Given the description of an element on the screen output the (x, y) to click on. 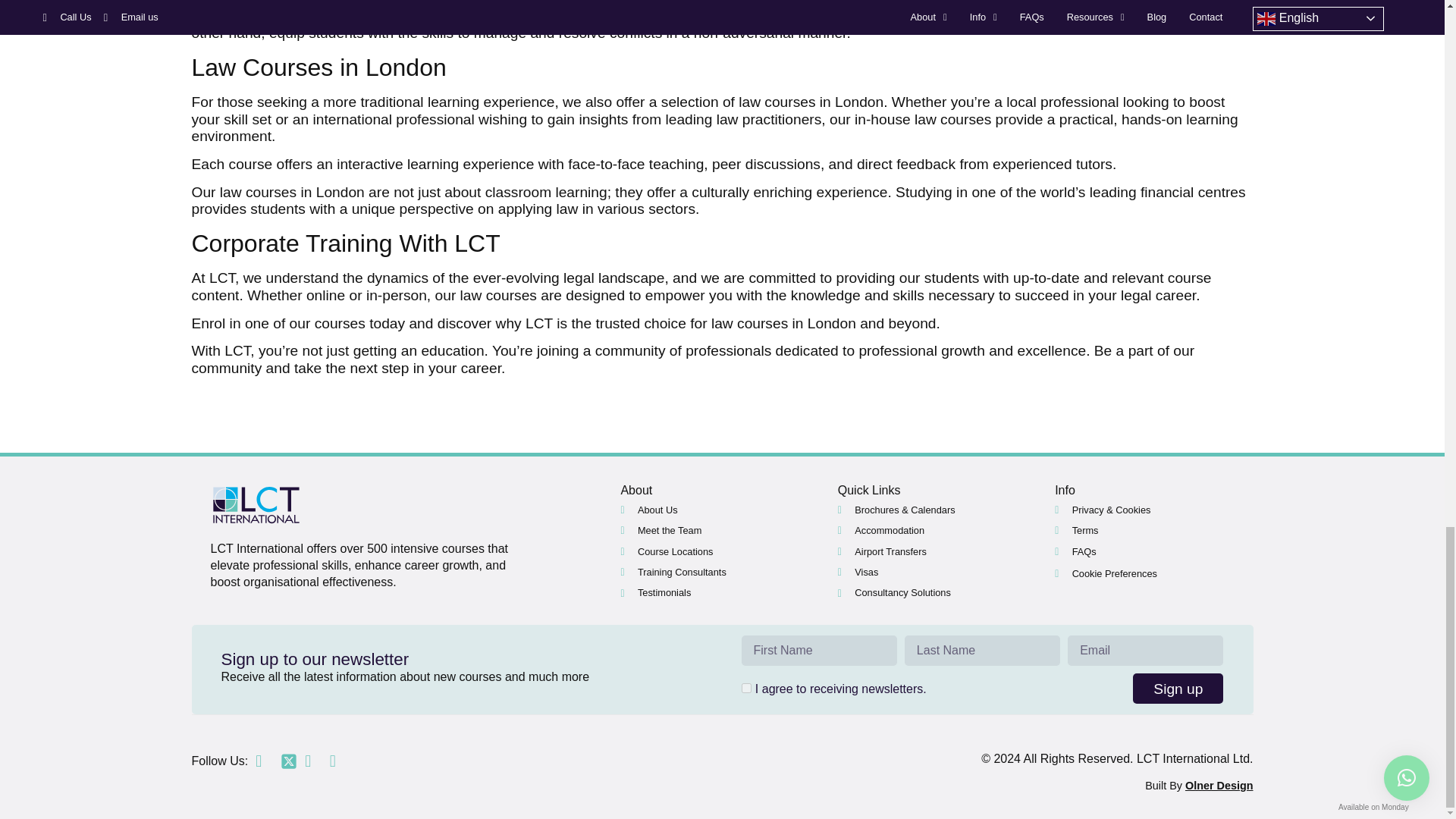
on (746, 687)
